Given the description of an element on the screen output the (x, y) to click on. 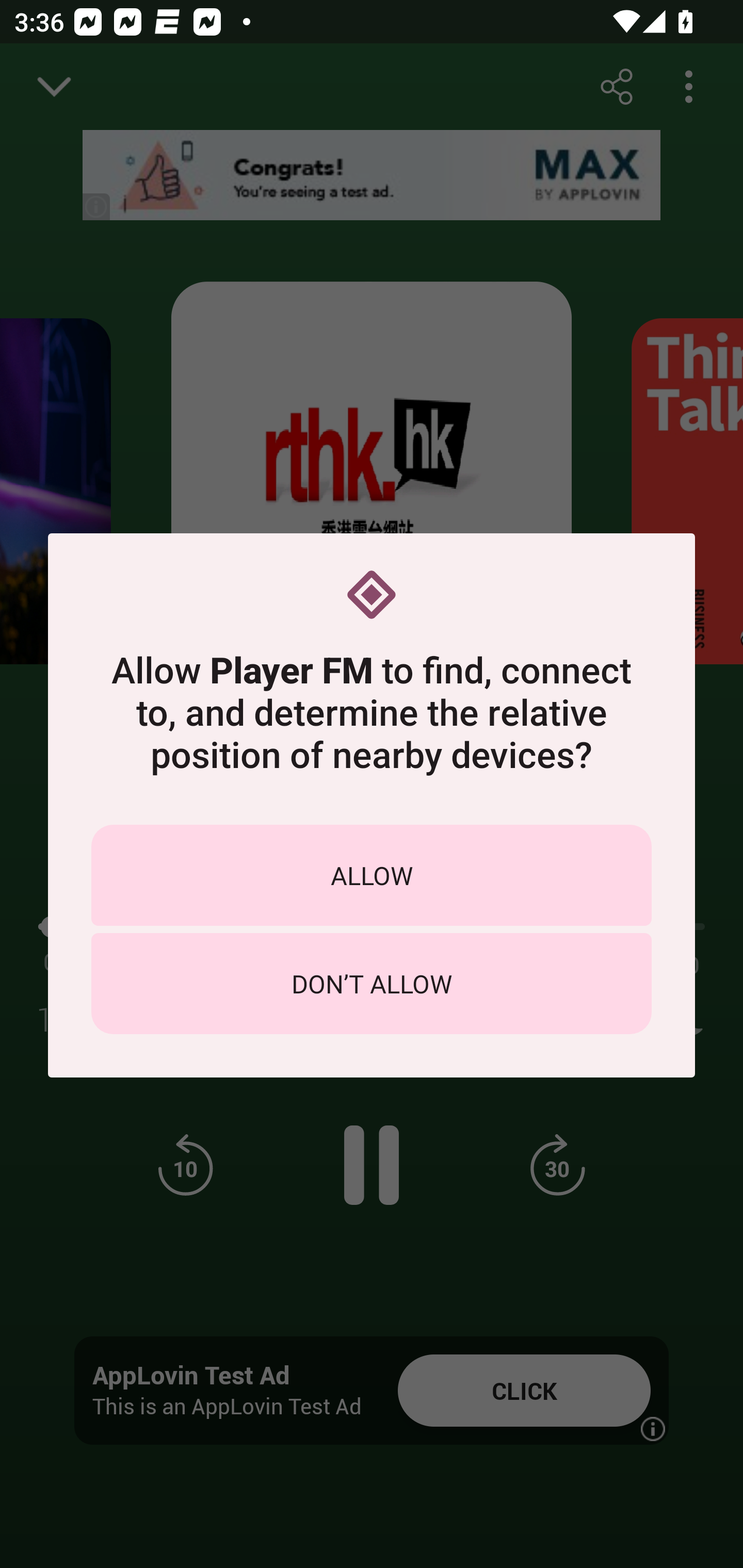
ALLOW (371, 874)
DON’T ALLOW (371, 983)
